Given the description of an element on the screen output the (x, y) to click on. 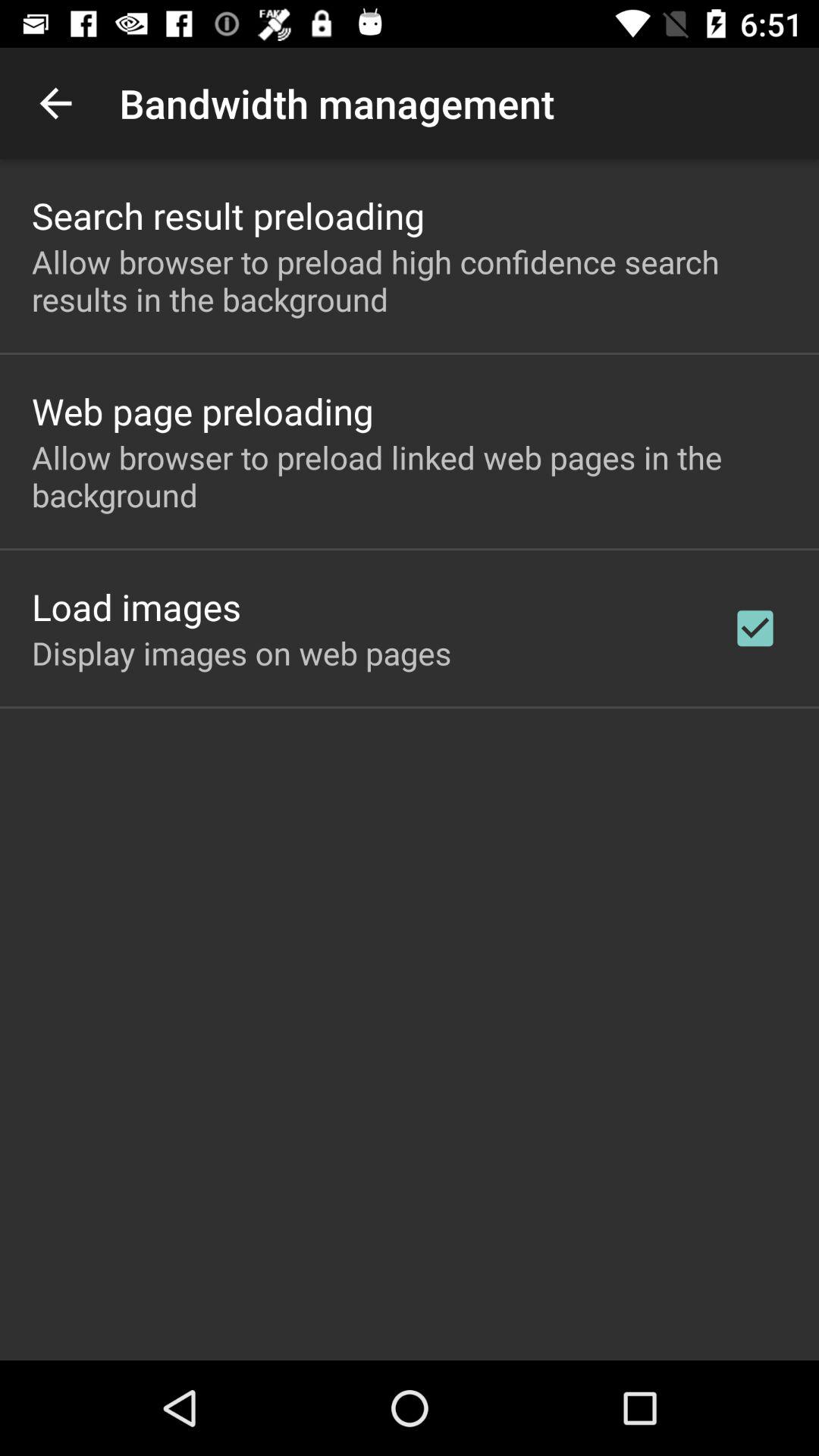
launch the app below the allow browser to item (202, 410)
